Given the description of an element on the screen output the (x, y) to click on. 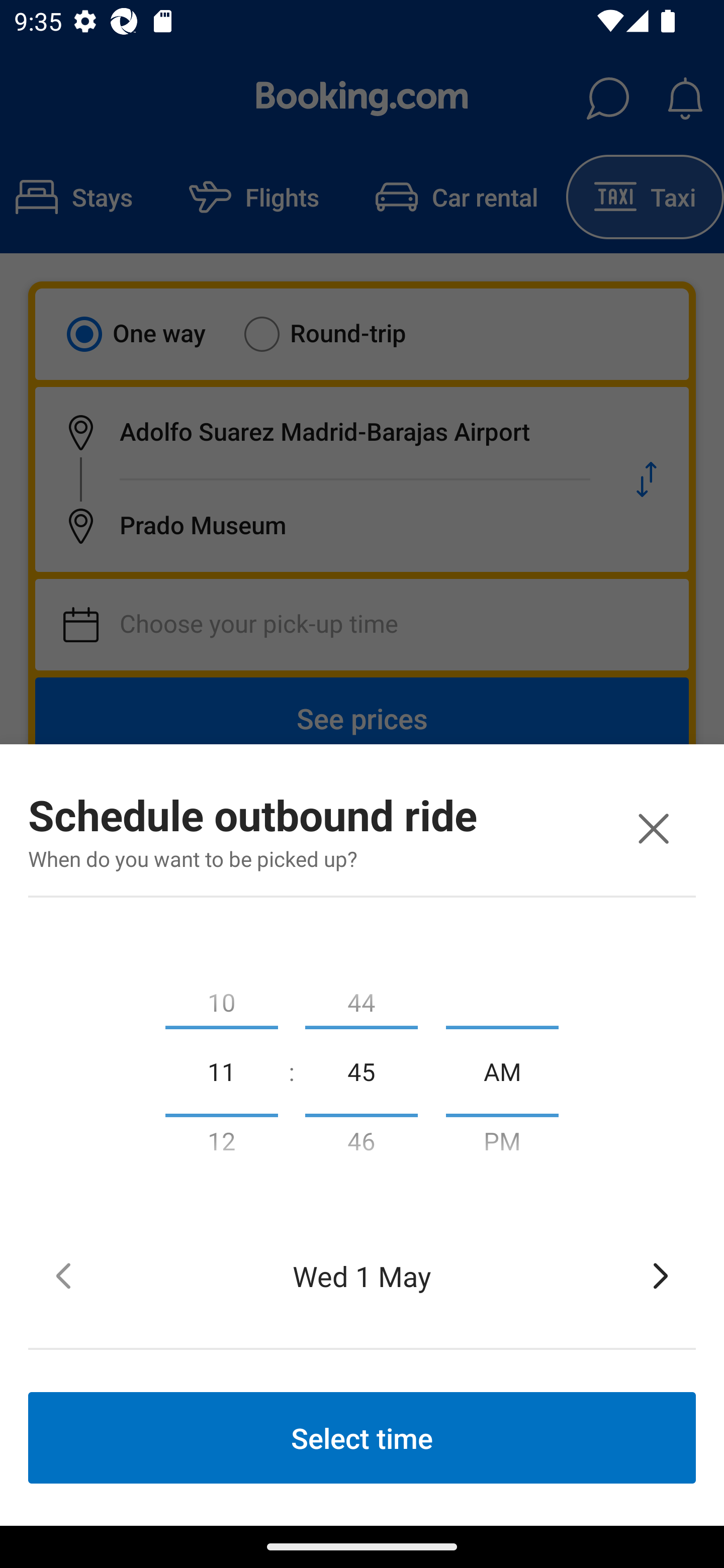
Close window (653, 828)
10 (221, 997)
44 (361, 997)
11 (221, 1070)
45 (361, 1070)
AM (501, 1070)
12 (221, 1144)
46 (361, 1144)
PM (501, 1144)
Tap to move back to the previous date (63, 1275)
Tap to move forward to the next date (660, 1275)
Wed 1 May Selected date, Wednesday, 1 May (361, 1275)
Select time (361, 1437)
